Given the description of an element on the screen output the (x, y) to click on. 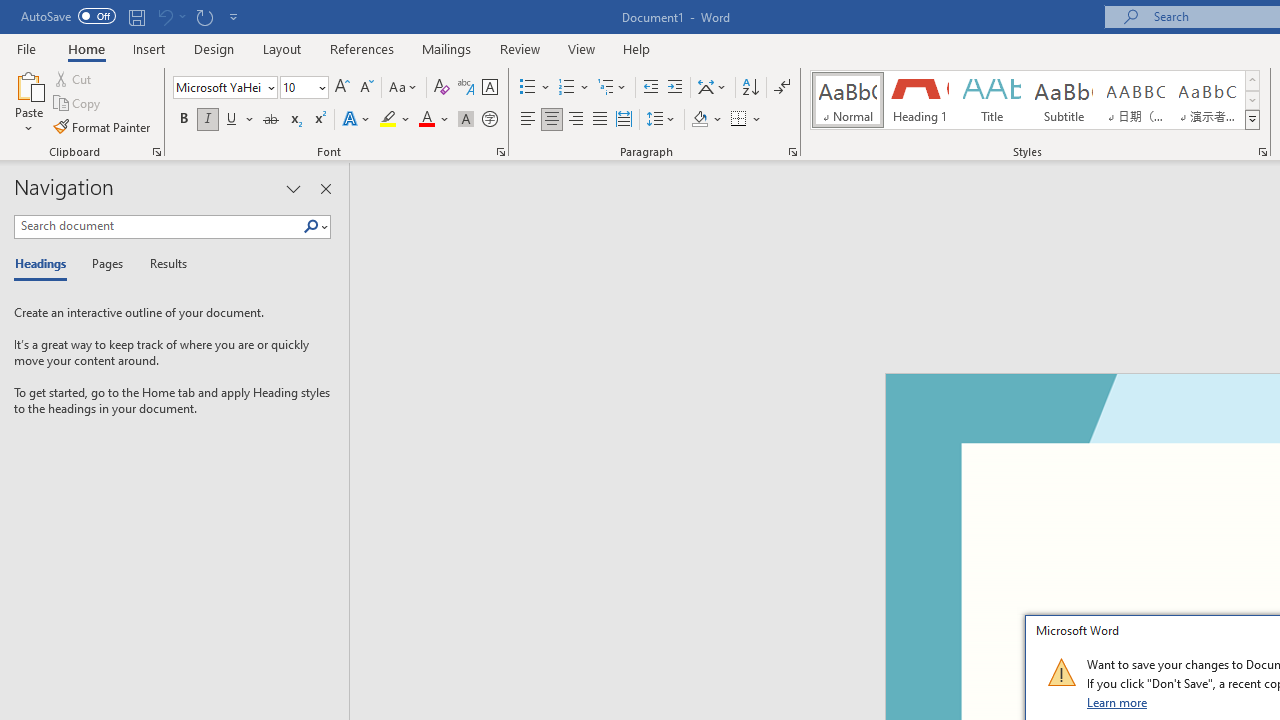
Quick Access Toolbar (131, 16)
Heading 1 (920, 100)
Font Color Red (426, 119)
Line and Paragraph Spacing (661, 119)
Save (136, 15)
